Given the description of an element on the screen output the (x, y) to click on. 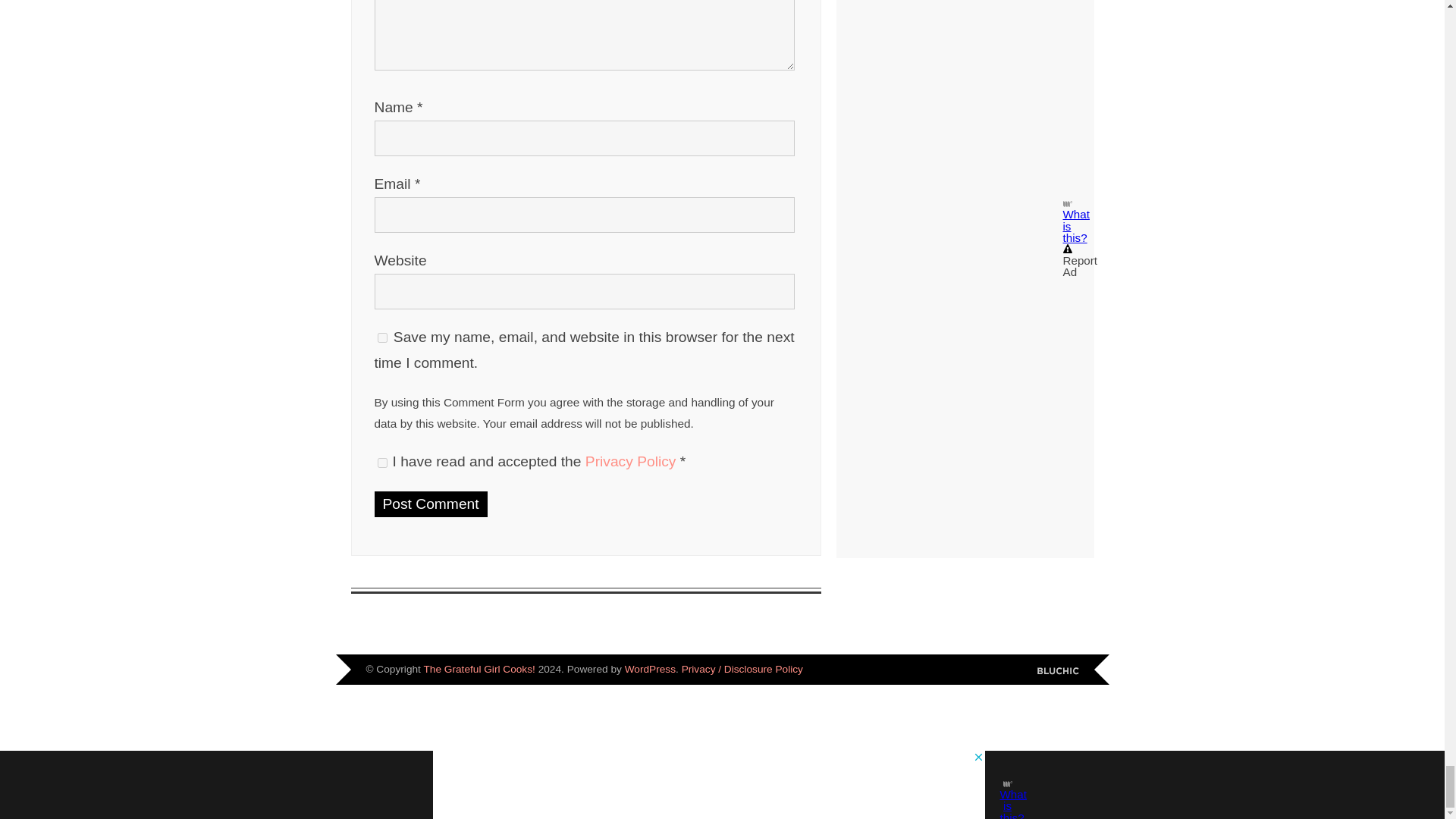
policy-key (382, 462)
yes (382, 337)
Post Comment (430, 503)
